Given the description of an element on the screen output the (x, y) to click on. 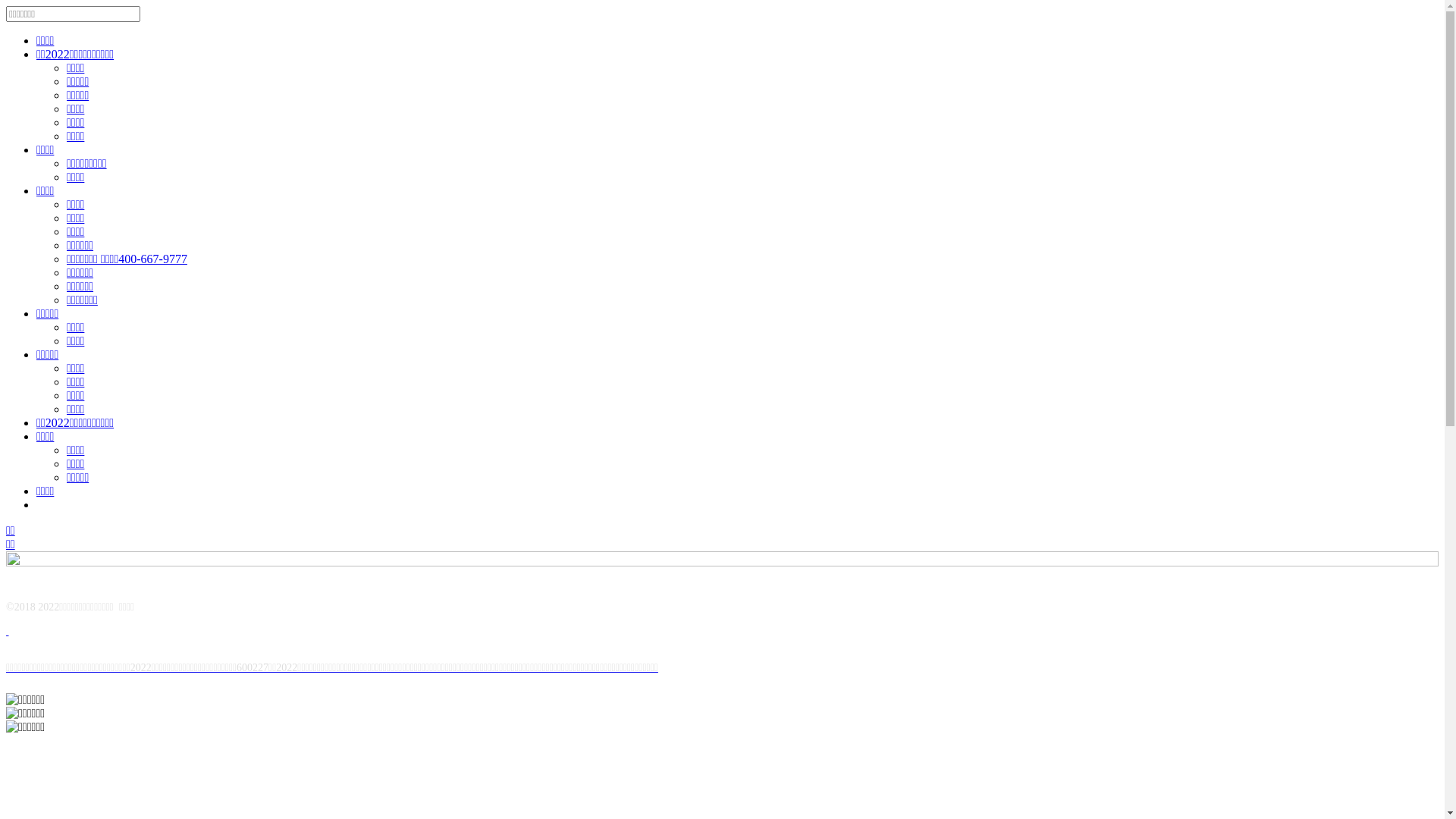
  Element type: text (7, 631)
